Given the description of an element on the screen output the (x, y) to click on. 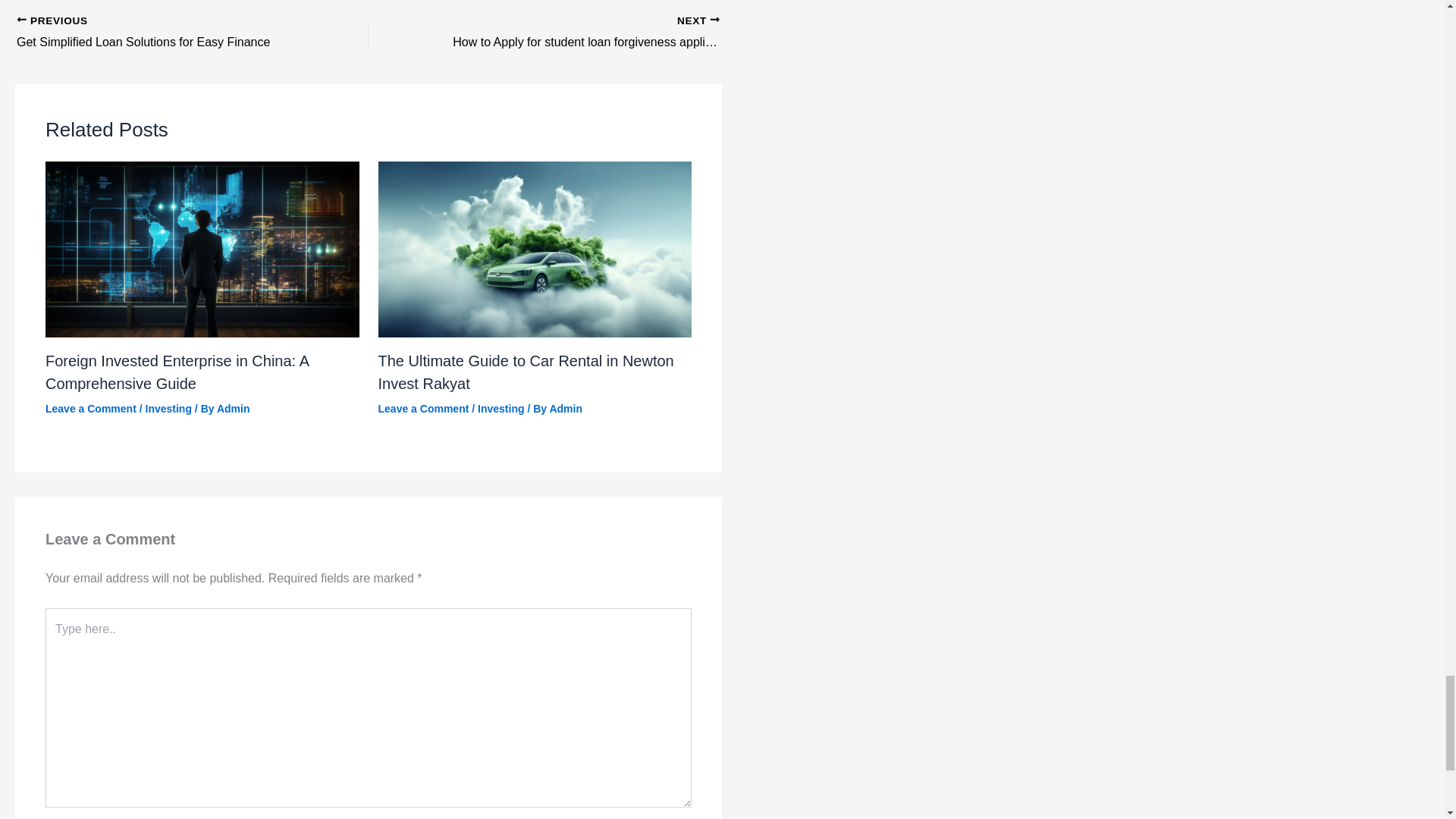
Investing (500, 408)
Foreign Invested Enterprise in China: A Comprehensive Guide (176, 372)
Leave a Comment (423, 408)
Admin (233, 408)
Leave a Comment (90, 408)
The Ultimate Guide to Car Rental in Newton Invest Rakyat (526, 372)
View all posts by Admin (157, 33)
View all posts by Admin (565, 408)
